Given the description of an element on the screen output the (x, y) to click on. 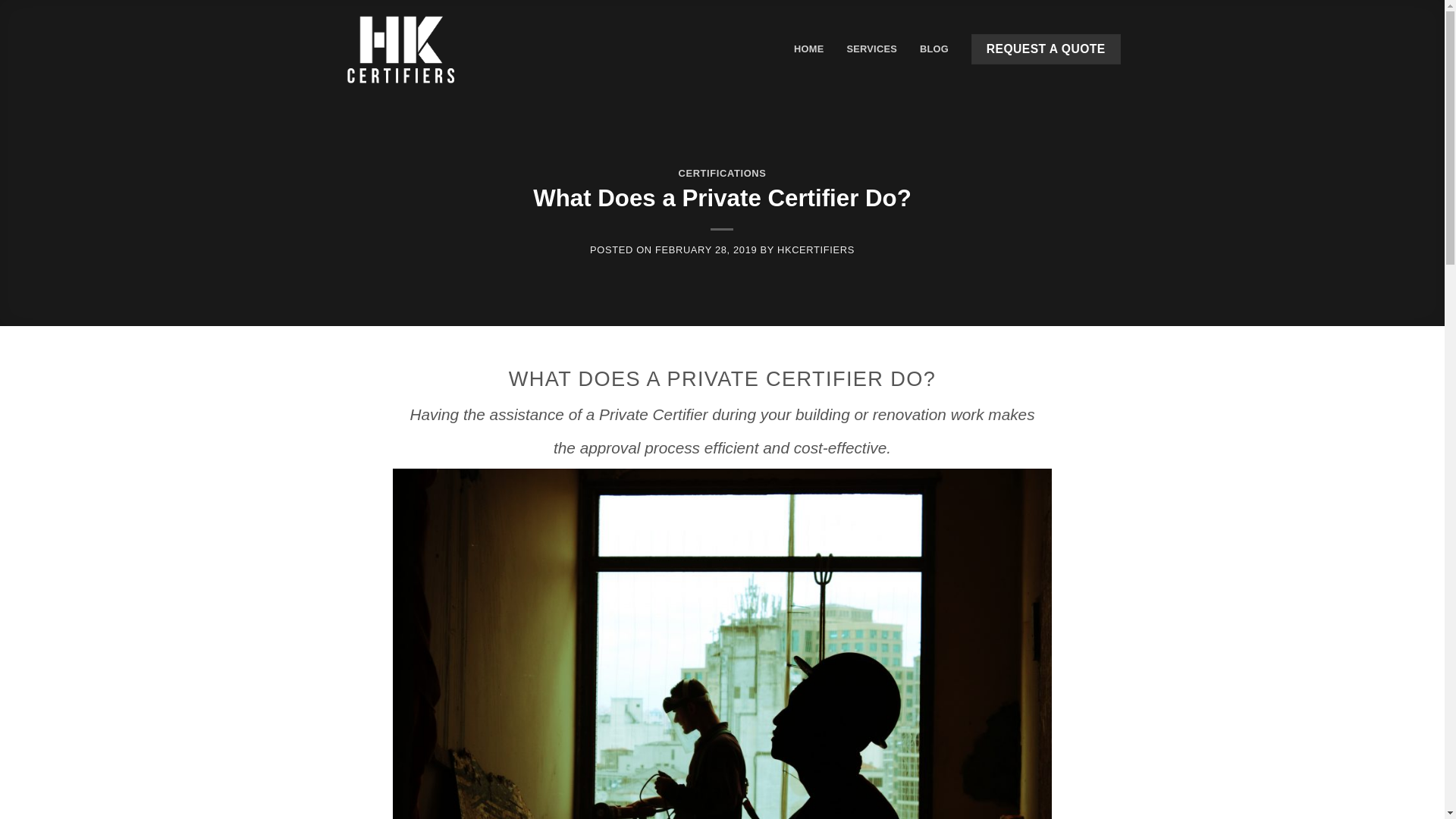
HKCERTIFIERS Element type: text (815, 249)
CERTIFICATIONS Element type: text (721, 172)
REQUEST A QUOTE Element type: text (1045, 49)
FEBRUARY 28, 2019 Element type: text (705, 249)
HOME Element type: text (808, 49)
HK Certifiers - Reliable and affordable certifiers Element type: hover (400, 49)
BLOG Element type: text (933, 49)
SERVICES Element type: text (871, 49)
